Given the description of an element on the screen output the (x, y) to click on. 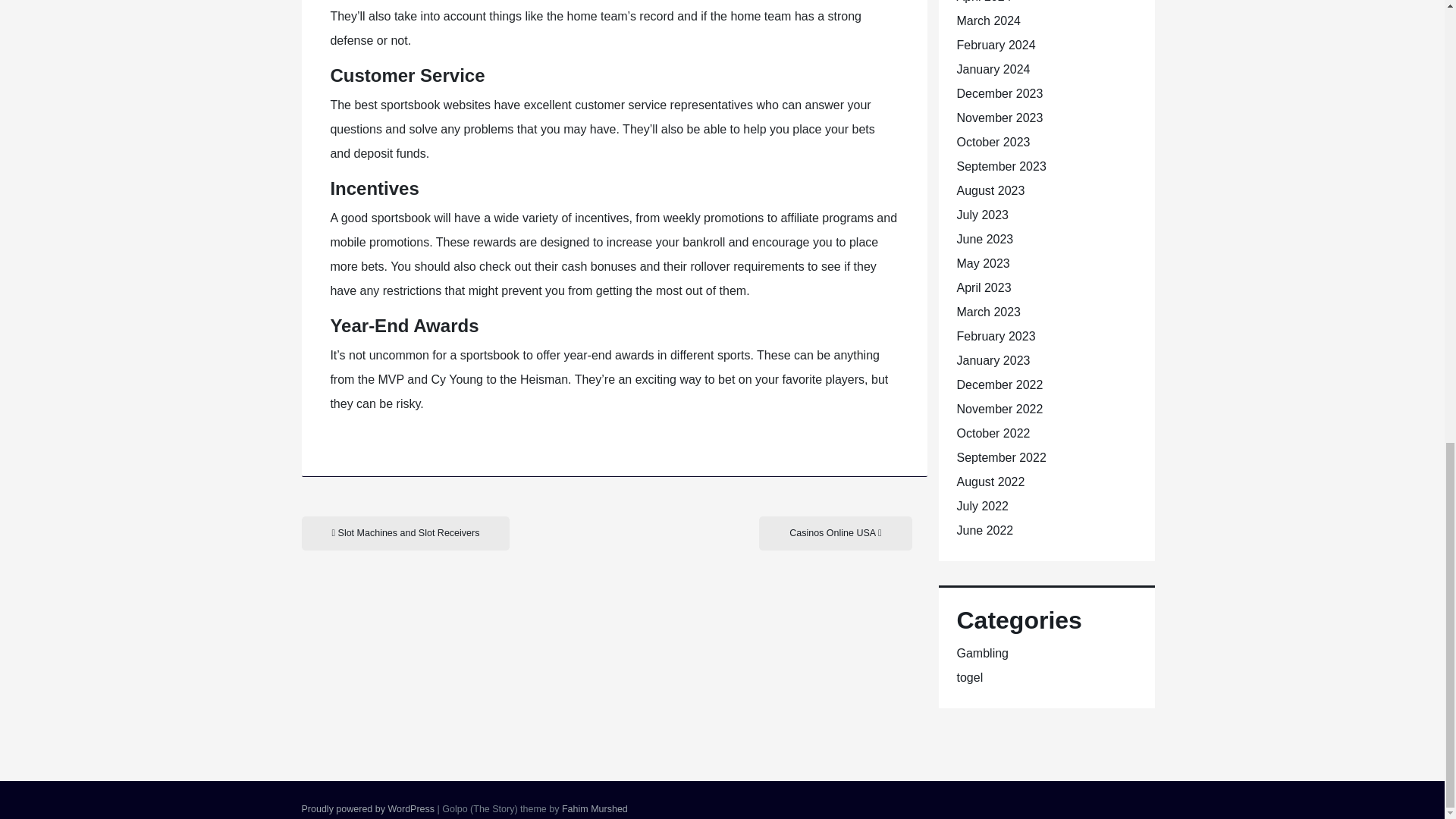
May 2023 (983, 263)
August 2023 (990, 190)
April 2024 (983, 1)
February 2024 (995, 44)
September 2022 (1001, 457)
September 2023 (1001, 165)
July 2022 (982, 505)
October 2022 (993, 432)
December 2023 (999, 92)
Slot Machines and Slot Receivers (406, 533)
January 2024 (993, 69)
March 2024 (989, 20)
November 2023 (999, 117)
December 2022 (999, 384)
June 2023 (984, 238)
